Given the description of an element on the screen output the (x, y) to click on. 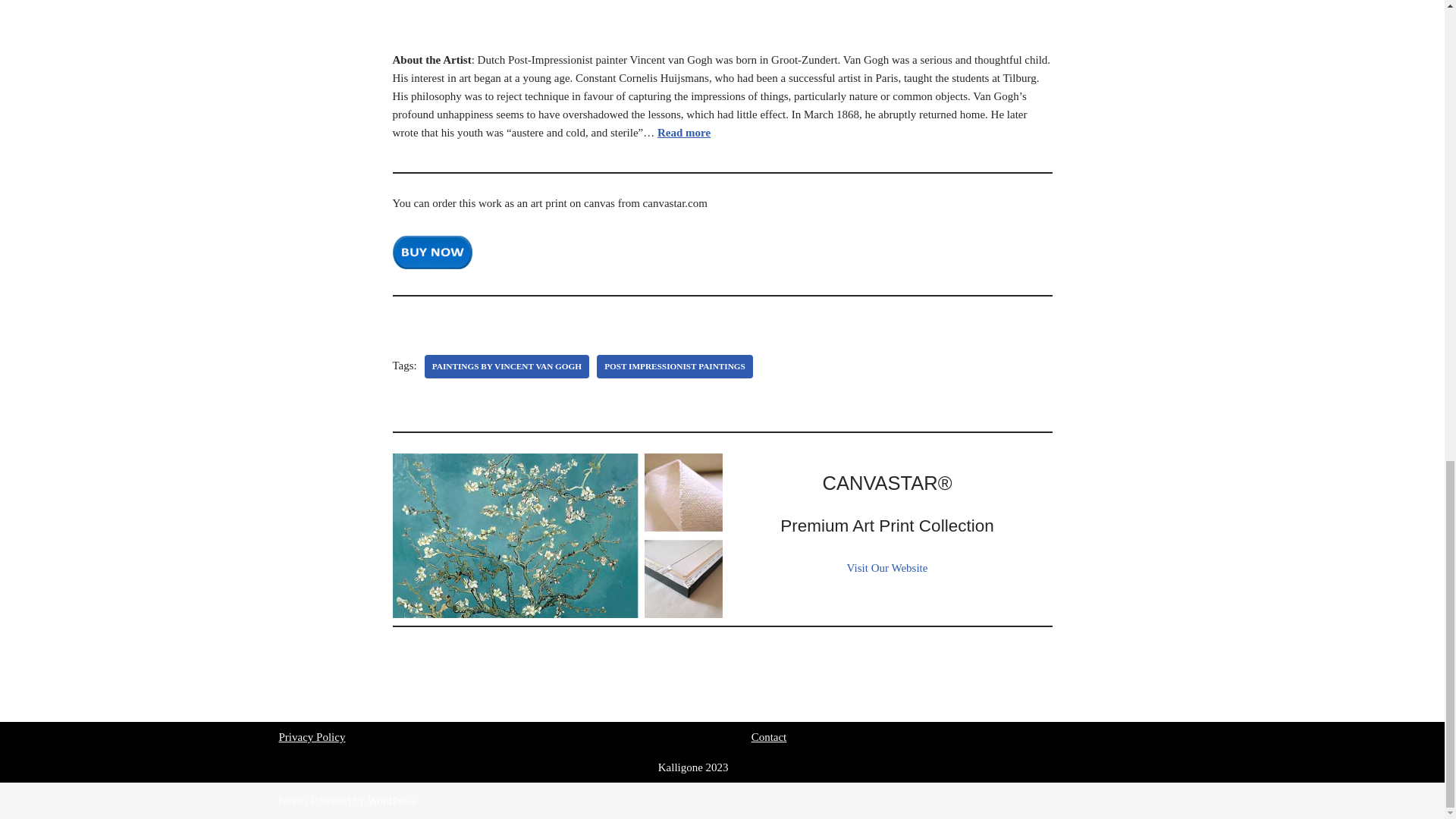
Post Impressionist Paintings (674, 366)
Read more (684, 132)
Paintings by Vincent van Gogh (507, 366)
